Given the description of an element on the screen output the (x, y) to click on. 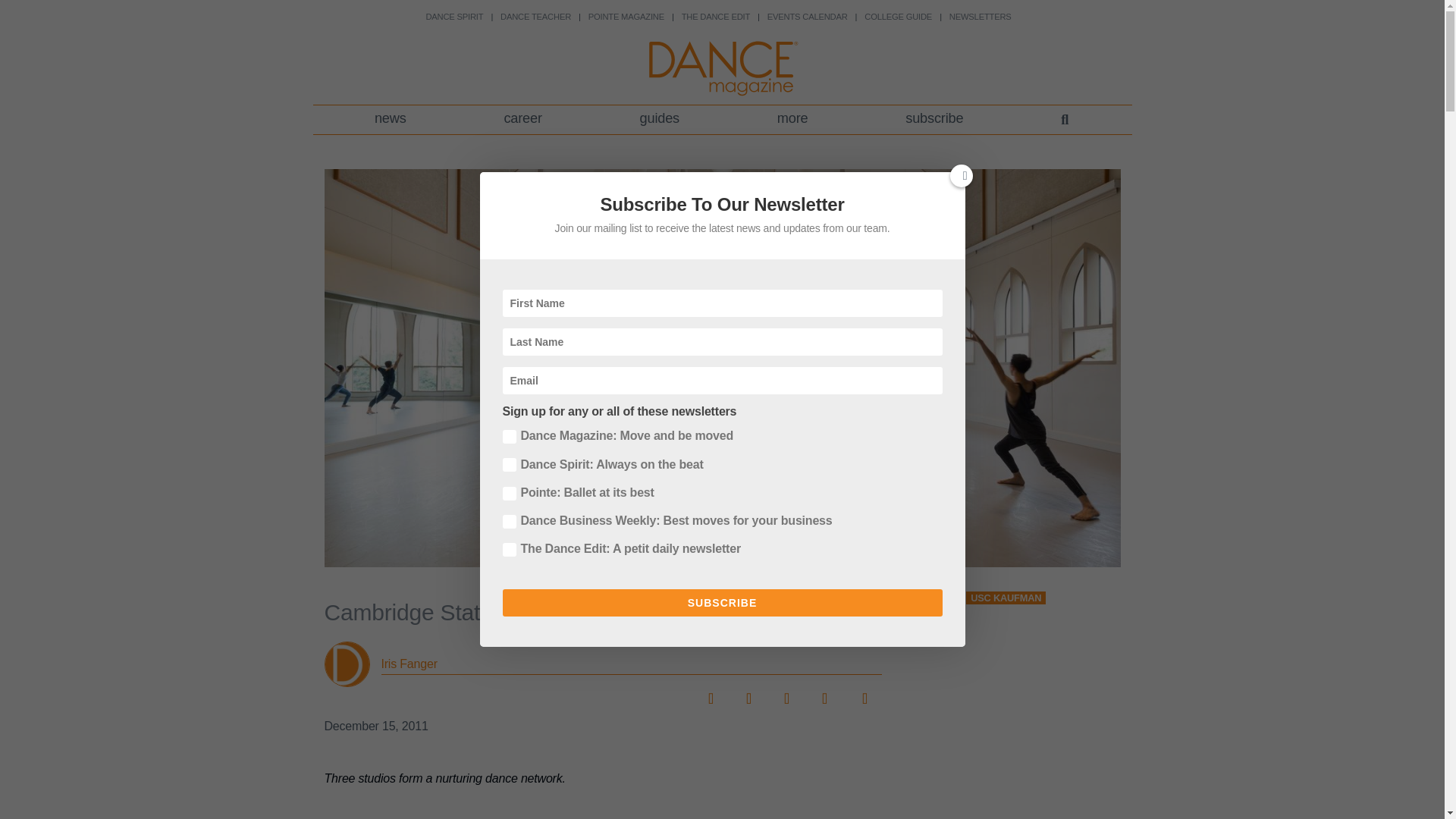
Share by Email (861, 693)
EVENTS CALENDAR (807, 16)
Share on Pinterest (824, 693)
Share on LinkedIn (786, 693)
more (791, 119)
NEWSLETTERS (980, 16)
career (522, 119)
subscribe (934, 119)
Share on Facebook (710, 693)
DANCE TEACHER (535, 16)
